Given the description of an element on the screen output the (x, y) to click on. 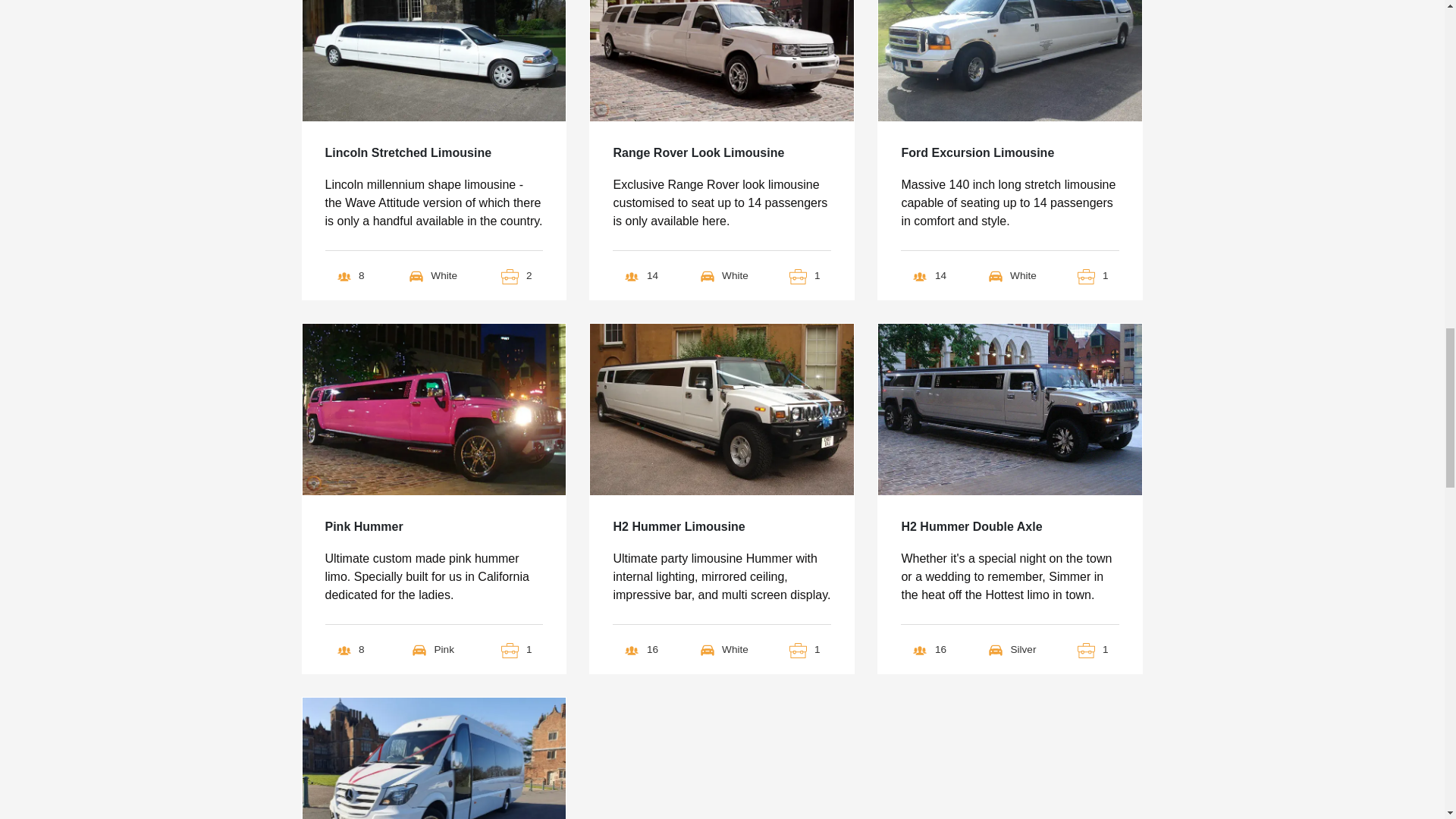
Ford Excursion Limousine (977, 156)
Pink Hummer (363, 529)
Lincoln Stretched Limousine (408, 156)
Range Rover Look Limousine (698, 156)
